Given the description of an element on the screen output the (x, y) to click on. 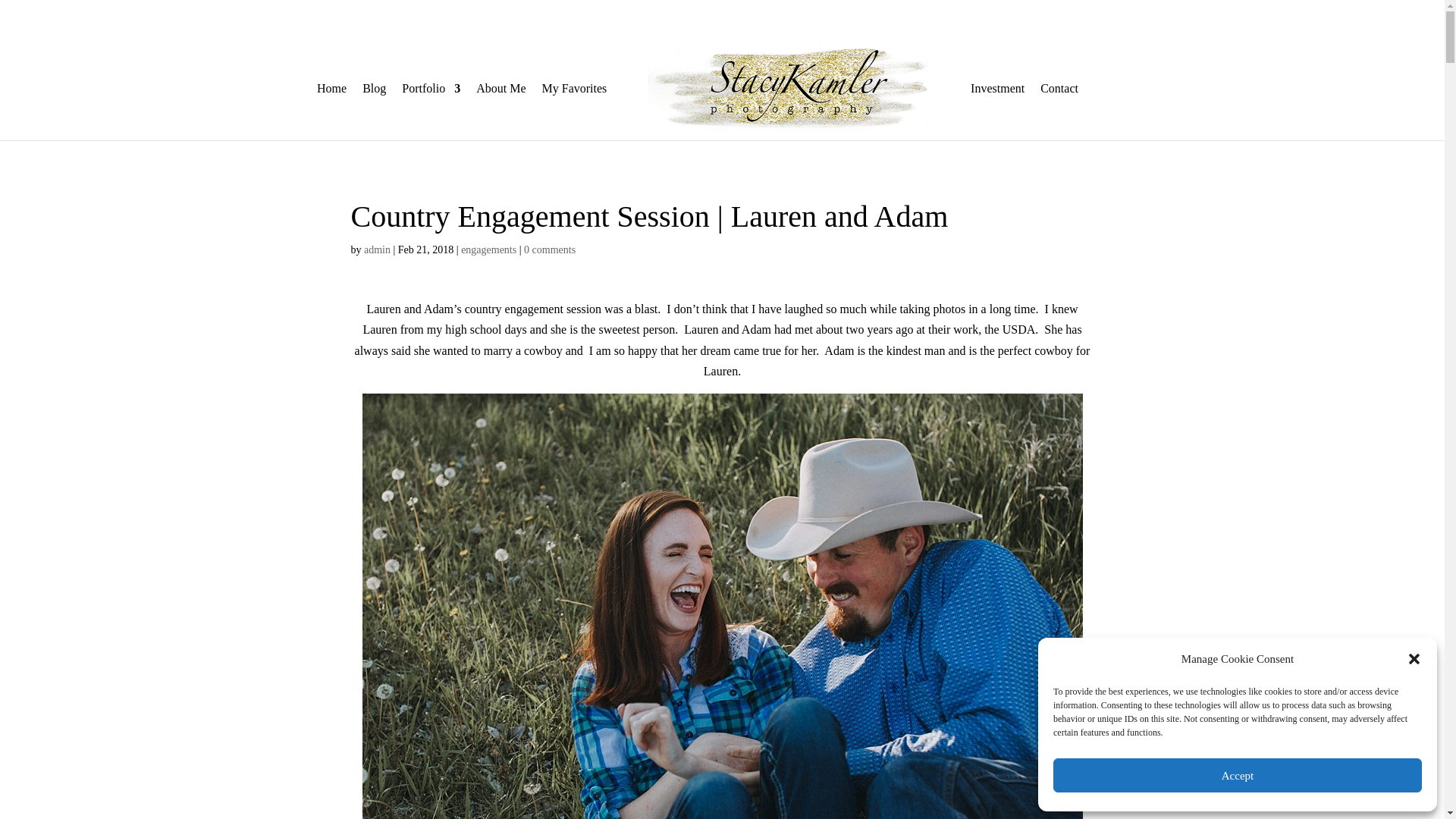
Investment (998, 111)
Posts by admin (377, 249)
Portfolio (430, 111)
Accept (1237, 775)
My Favorites (574, 111)
